Given the description of an element on the screen output the (x, y) to click on. 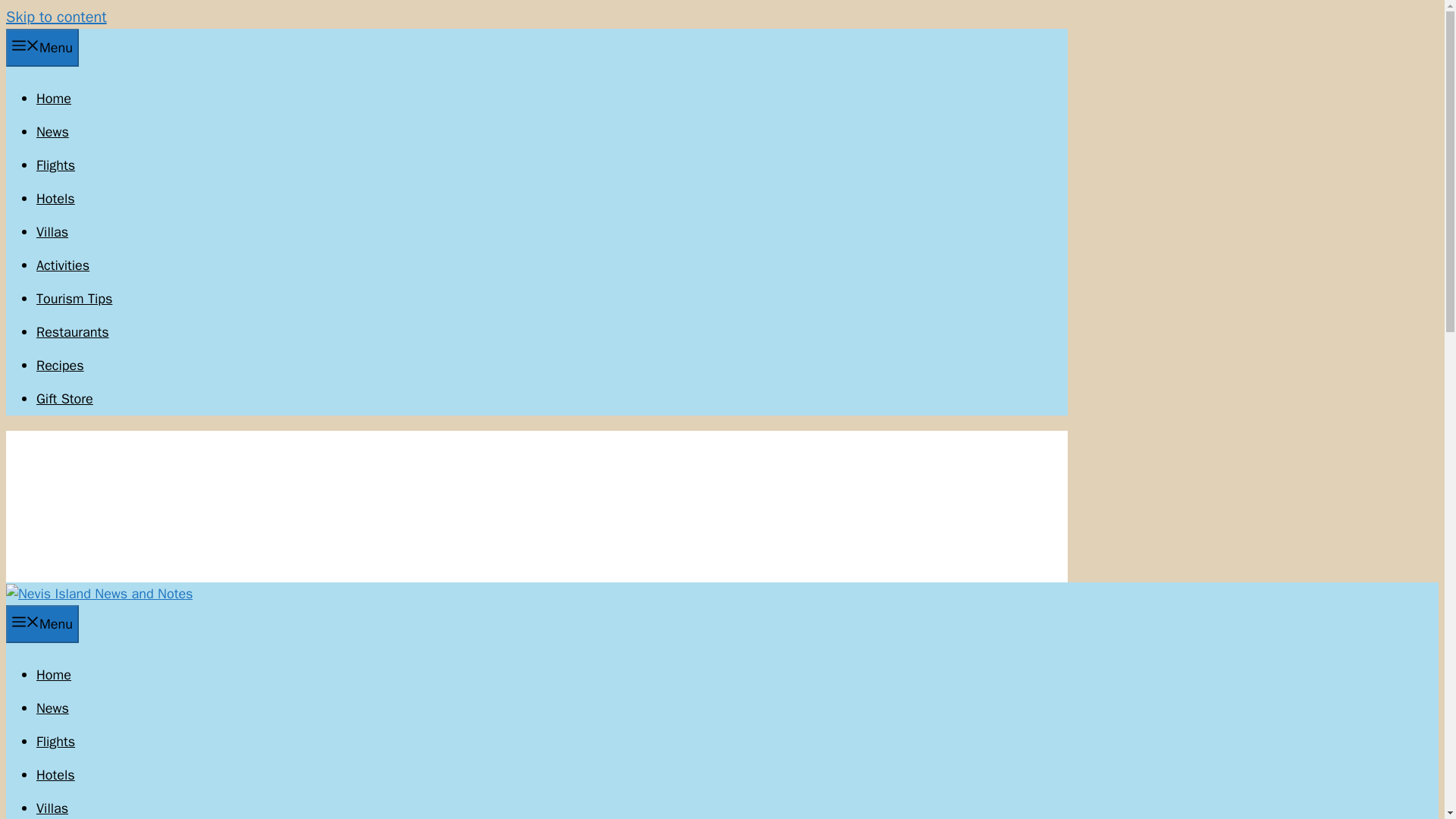
Nevis Flight Information (55, 165)
Flights (55, 165)
Home (53, 98)
Gift Store (64, 398)
Luxury Nevis Hotels (55, 774)
News (52, 708)
Nevis Island News and Notes (98, 593)
Tourism Tips (74, 298)
Nevis Activities and Events Calendar (62, 265)
Luxury Nevis Hotels (55, 198)
Skip to content (55, 16)
Hotels (55, 198)
Recipes (60, 365)
Nevis Restaurants (72, 331)
Villas (52, 808)
